Given the description of an element on the screen output the (x, y) to click on. 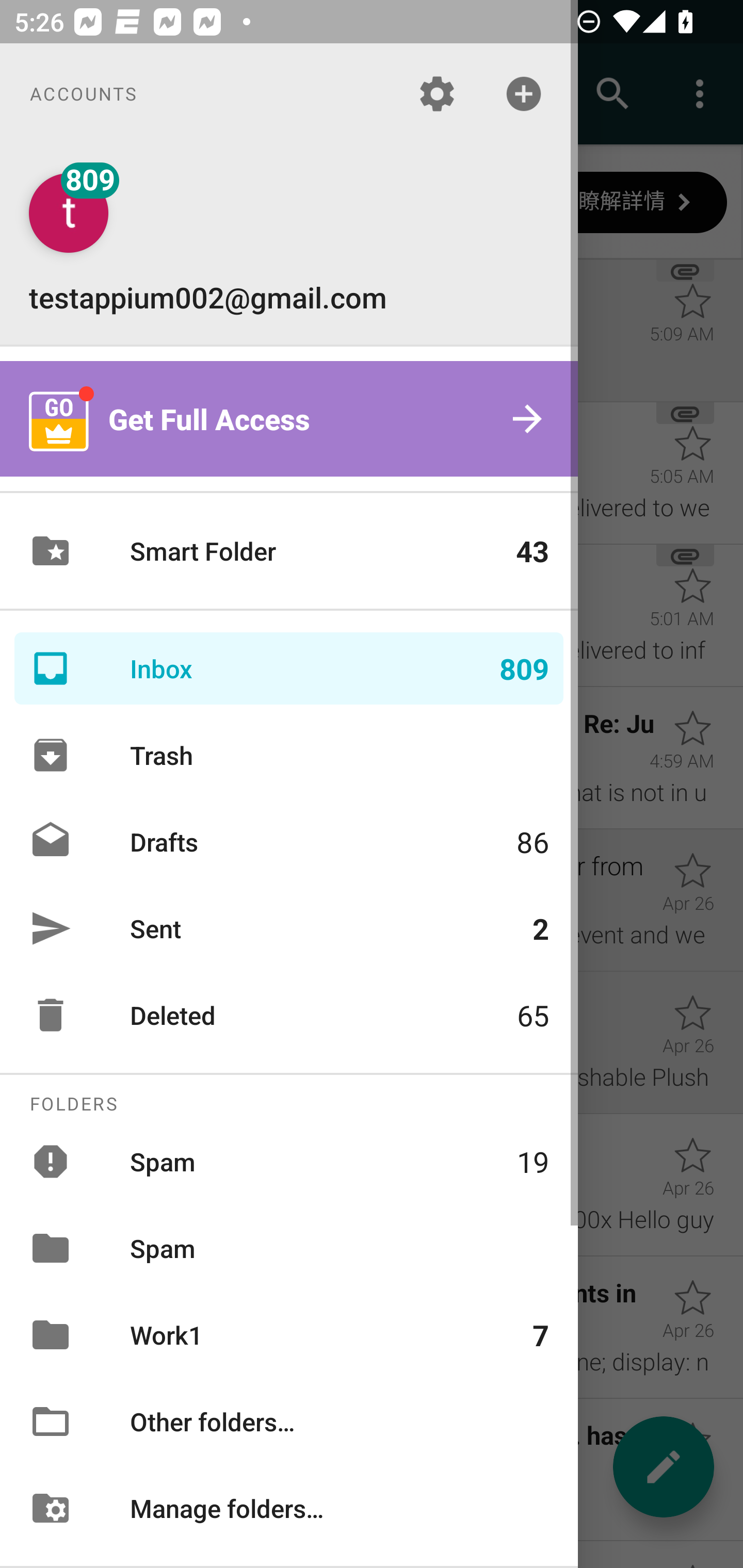
testappium002@gmail.com (289, 244)
Get Full Access (289, 418)
Smart Folder 43 (289, 551)
Inbox 809 (289, 668)
Trash (289, 754)
Drafts 86 (289, 841)
Sent 2 (289, 928)
Deleted 65 (289, 1015)
Spam 19 (289, 1160)
Spam (289, 1248)
Work1 7 (289, 1335)
Other folders… (289, 1421)
Manage folders… (289, 1507)
